Given the description of an element on the screen output the (x, y) to click on. 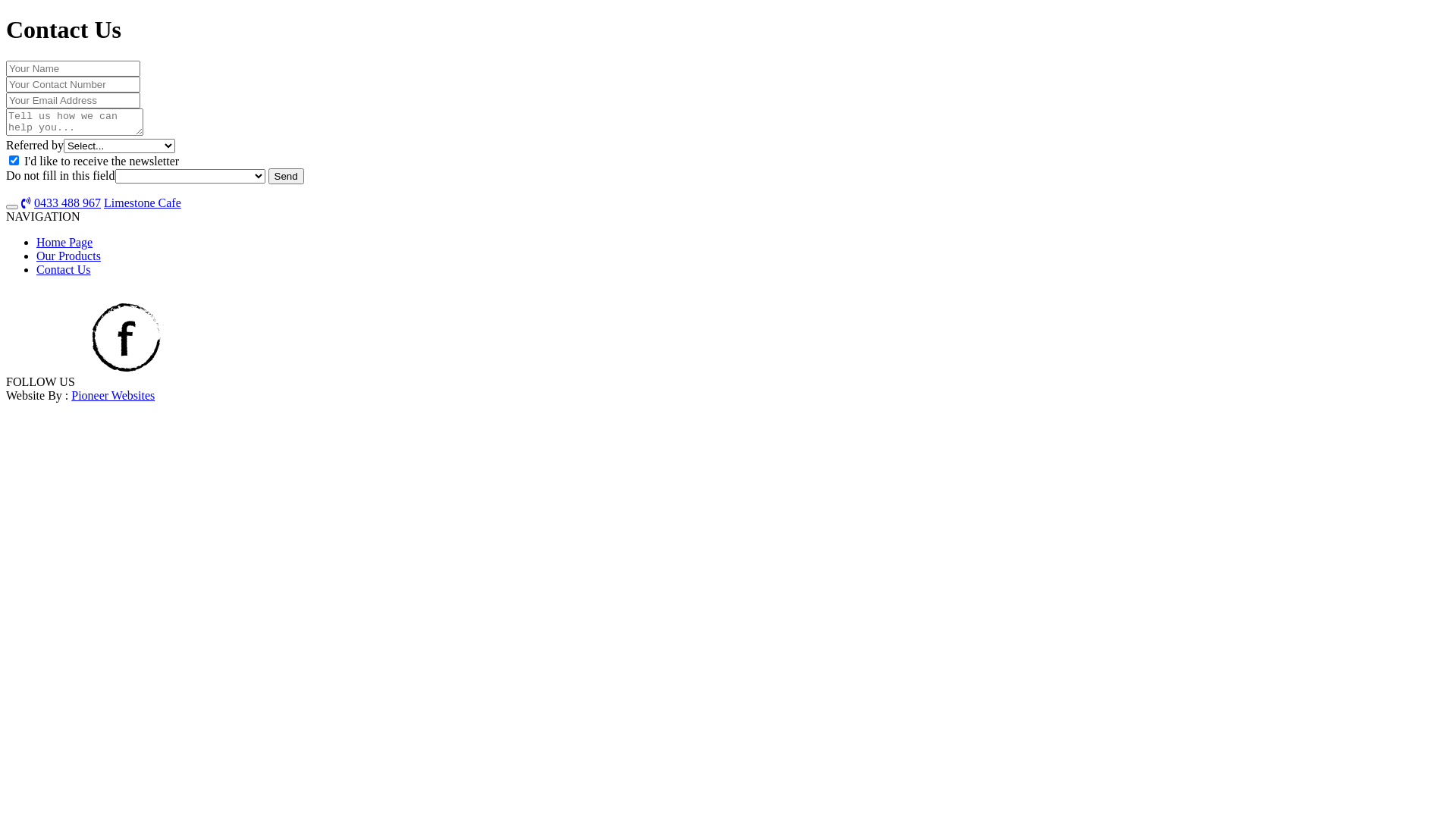
Limestone Cafe Element type: text (142, 202)
Pioneer Websites Element type: text (112, 395)
Home Page Element type: text (64, 241)
0433 488 967 Element type: text (67, 202)
Our Products Element type: text (68, 255)
Contact Us Element type: text (63, 269)
Send Element type: text (286, 176)
Toggle navigation Element type: text (12, 206)
